Given the description of an element on the screen output the (x, y) to click on. 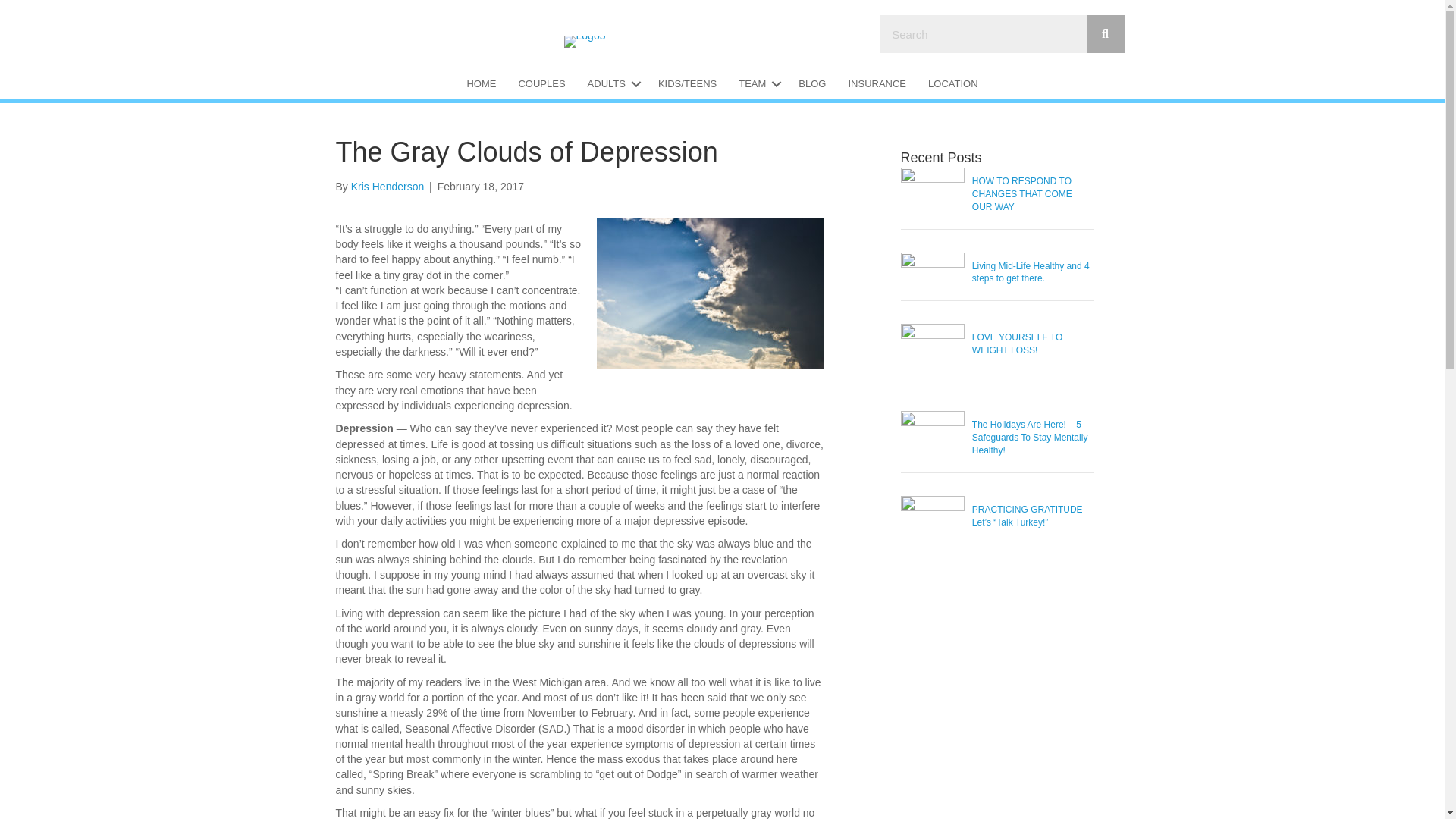
Kris Henderson (387, 186)
Search (982, 34)
HOW TO RESPOND TO CHANGES THAT COME OUR WAY (1021, 194)
ADULTS (611, 83)
INSURANCE (877, 83)
TEAM (757, 83)
BLOG (811, 83)
HOW TO RESPOND TO CHANGES THAT COME OUR WAY (1021, 194)
Living Mid-Life Healthy and 4 steps to get there. (1030, 272)
Living Mid-Life Healthy and 4 steps to get there. (1030, 272)
